Given the description of an element on the screen output the (x, y) to click on. 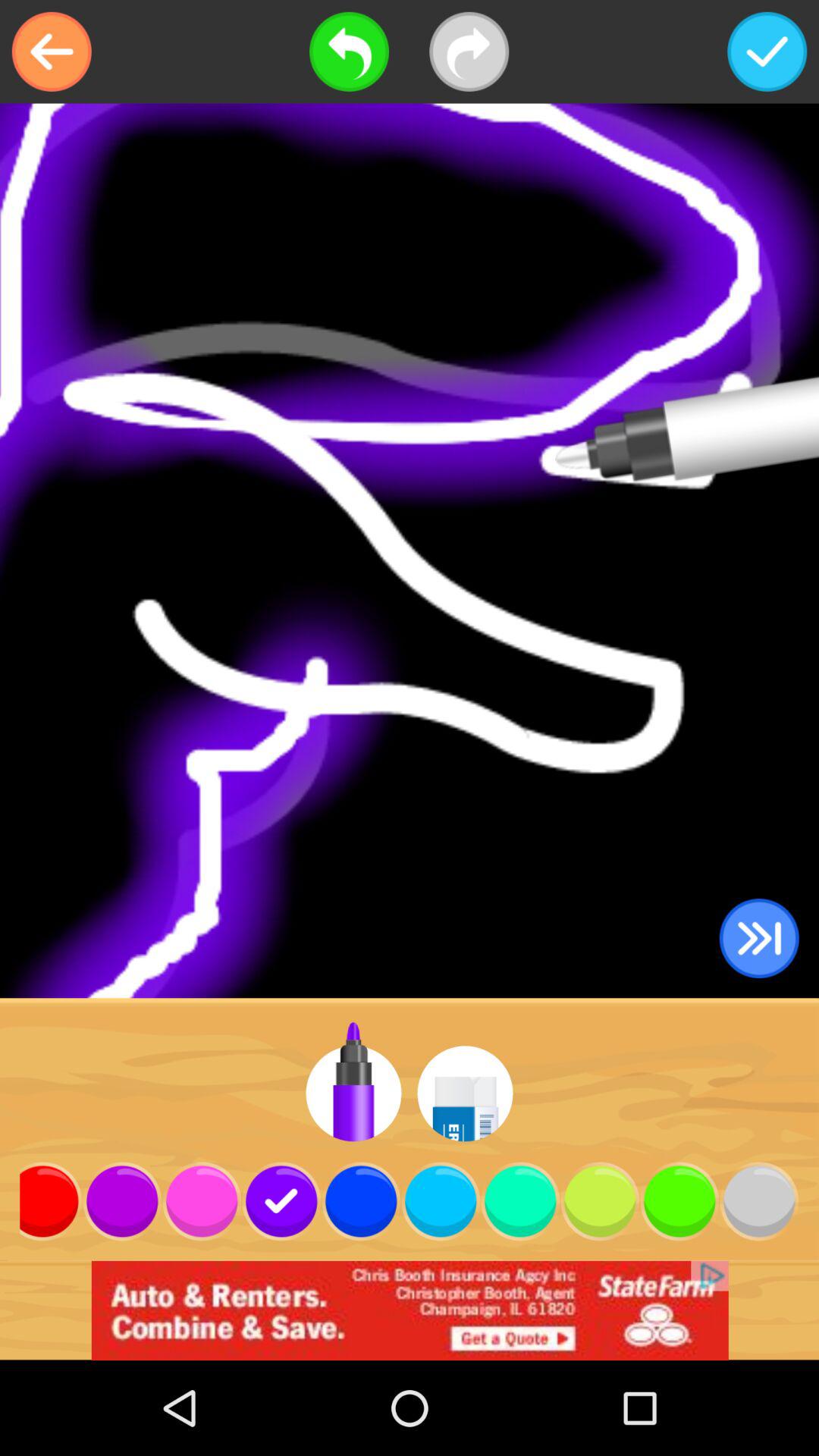
go to previous (51, 51)
